Given the description of an element on the screen output the (x, y) to click on. 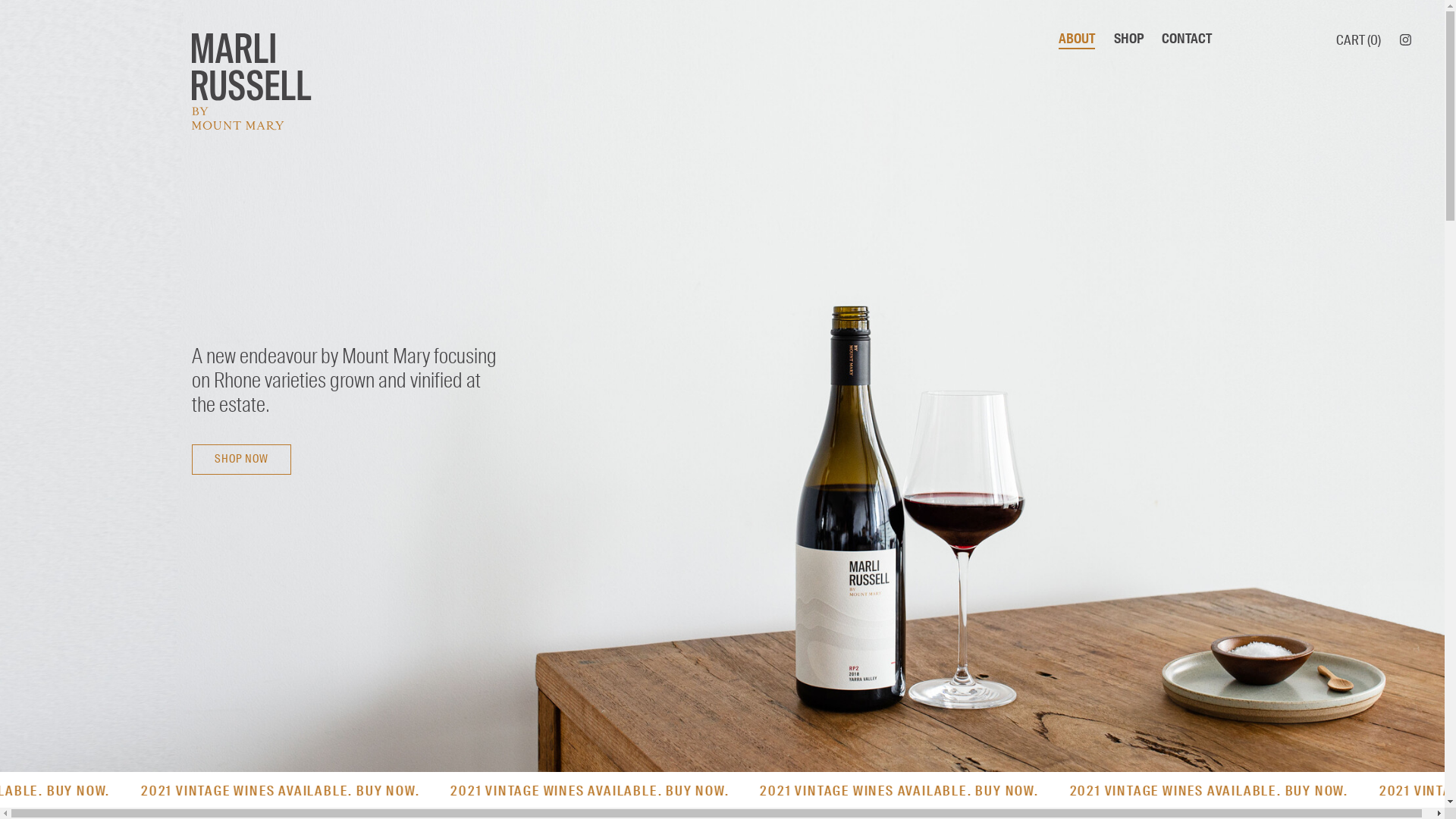
SHOP Element type: text (1128, 38)
CART (0) Element type: text (1353, 39)
CONTACT Element type: text (1186, 38)
ABOUT Element type: text (1076, 39)
SHOP NOW Element type: text (241, 459)
